Given the description of an element on the screen output the (x, y) to click on. 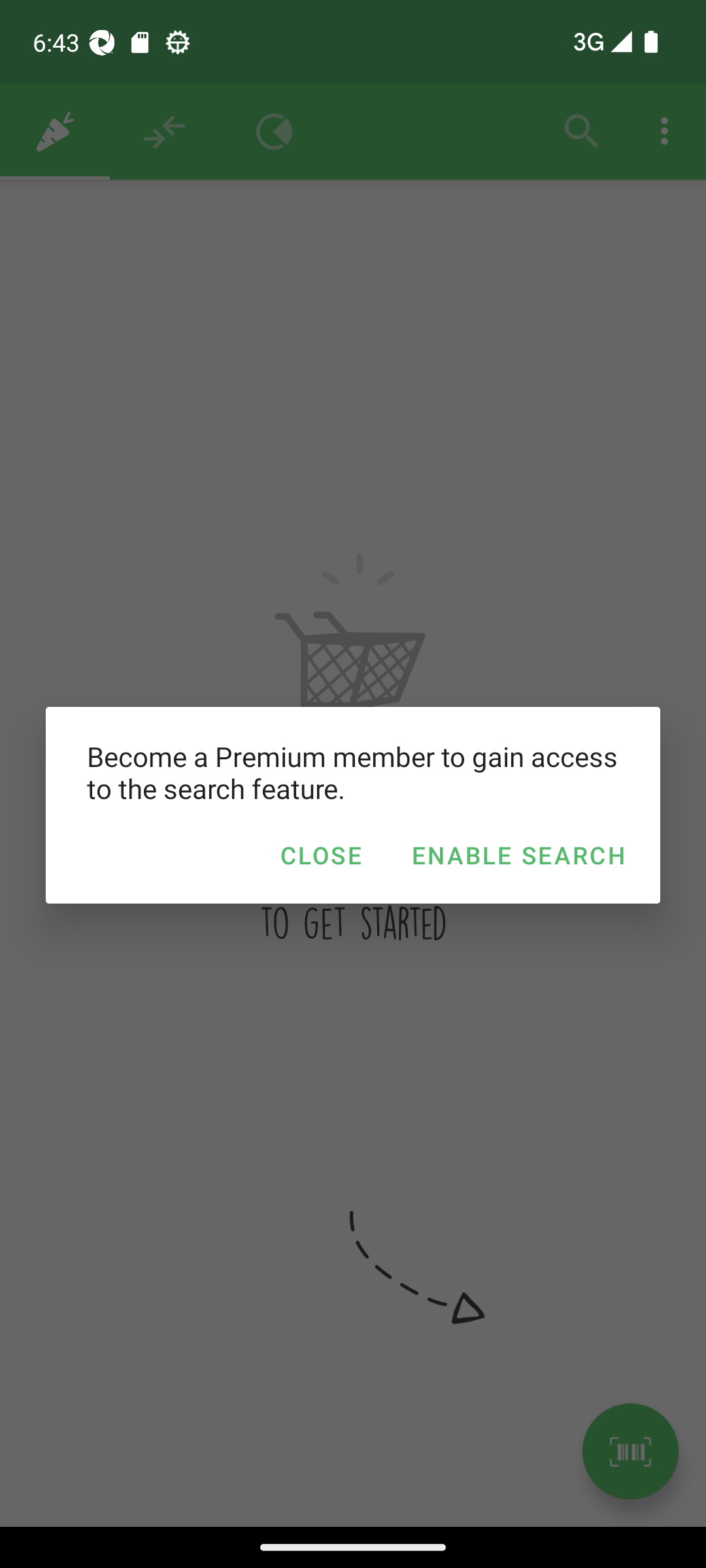
CLOSE (320, 854)
ENABLE SEARCH (517, 854)
